Given the description of an element on the screen output the (x, y) to click on. 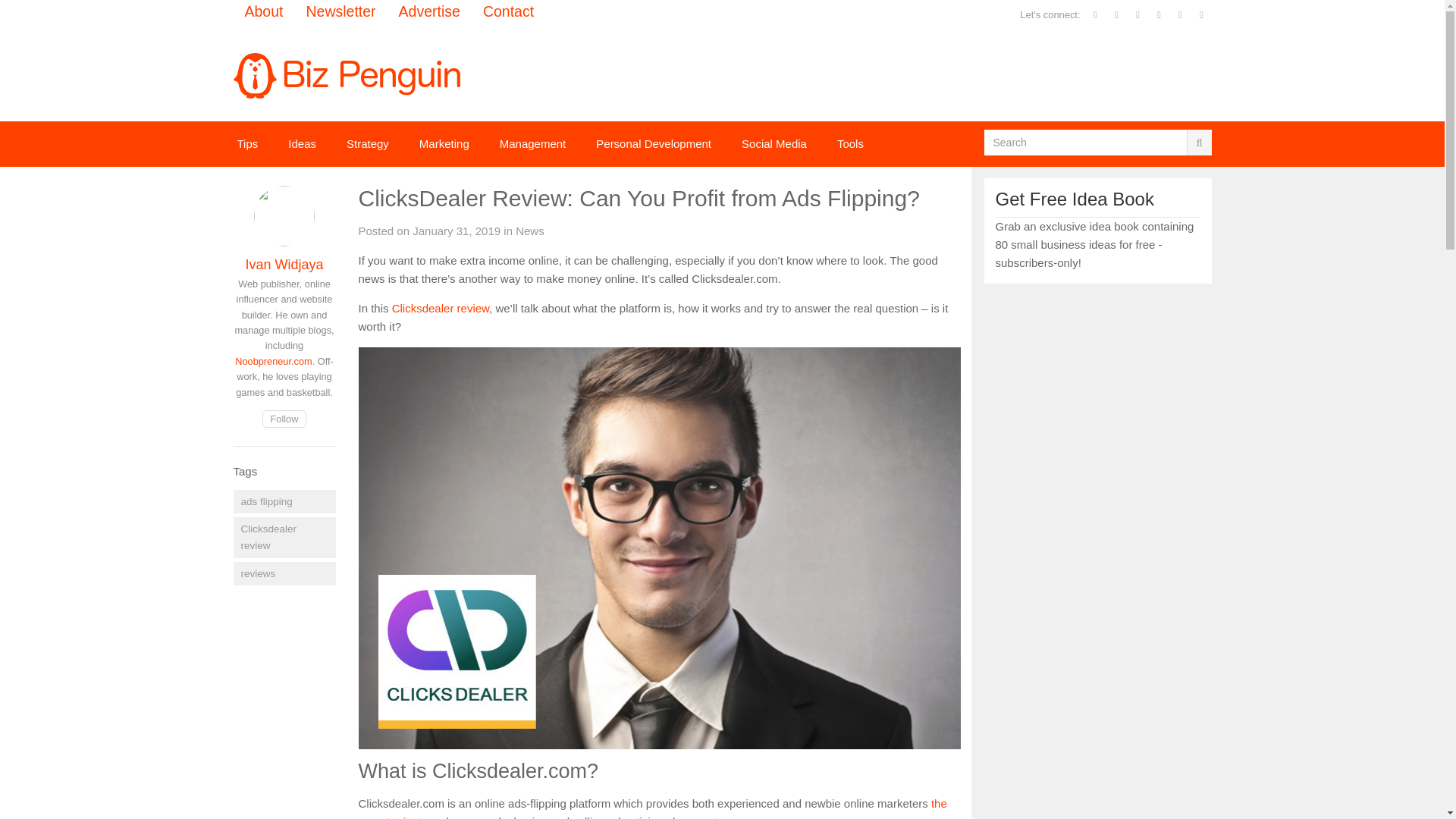
LinkedIn (1159, 14)
Follow on Twitter (284, 418)
Google Plus (1138, 14)
About (263, 11)
Newsletter (1201, 14)
Follow (284, 418)
Tools (850, 144)
Facebook (1095, 14)
Ideas (302, 144)
Twitter (1116, 14)
